Given the description of an element on the screen output the (x, y) to click on. 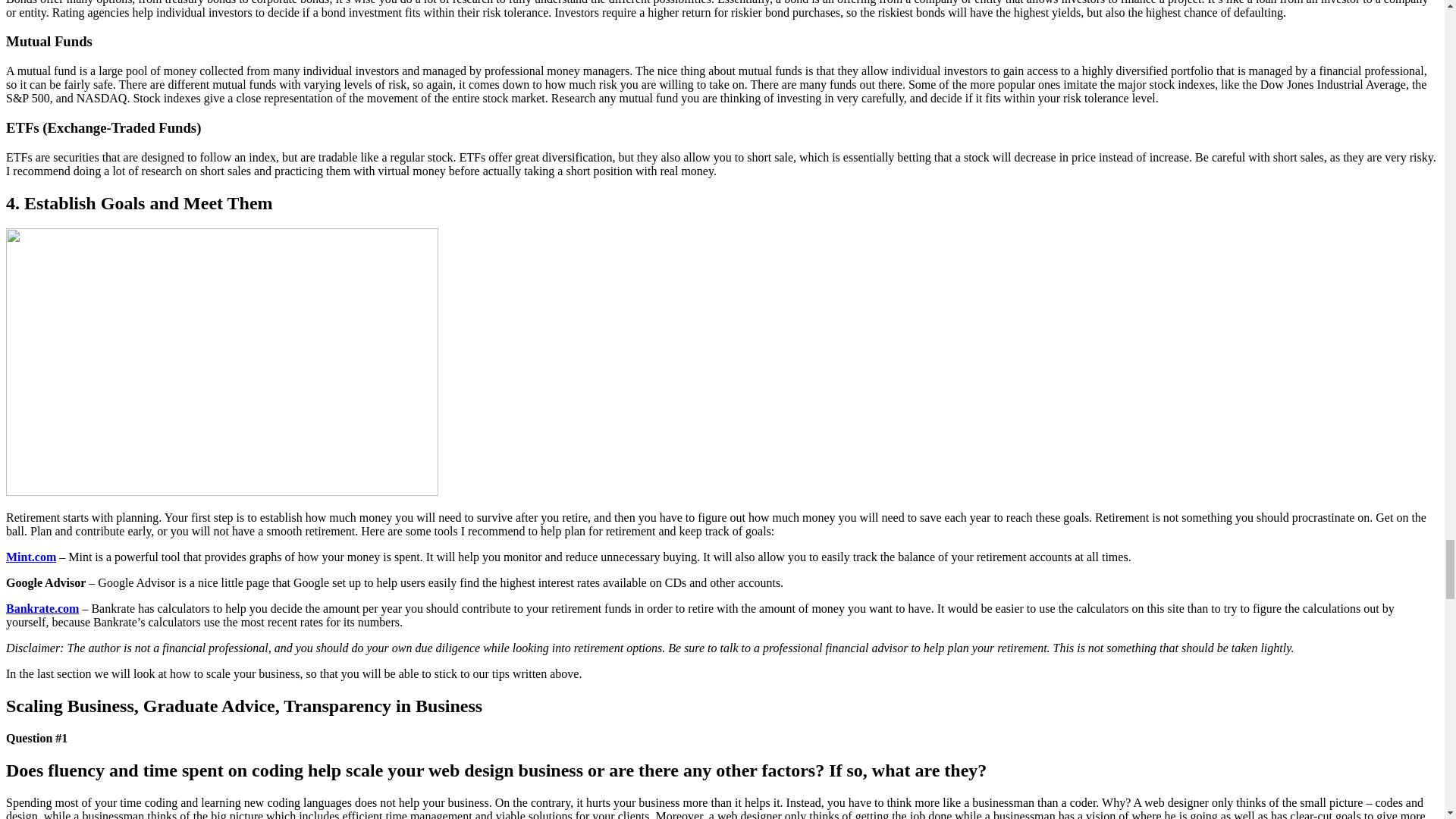
Mint.com - A Great Financial Planning Resource (30, 556)
Goal (221, 362)
Bankrate - Set Goals and Make Calculations (41, 608)
